Given the description of an element on the screen output the (x, y) to click on. 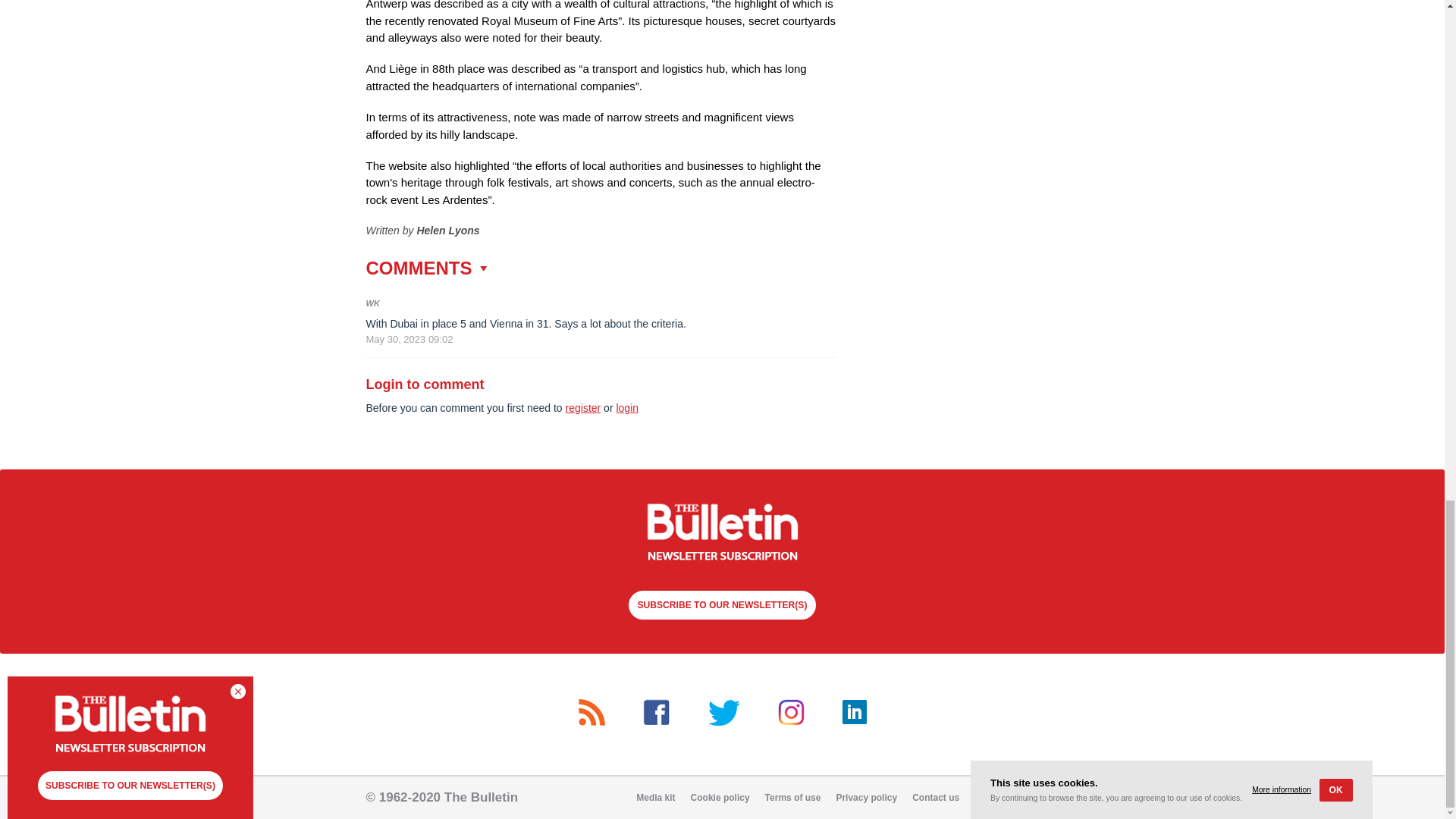
Subscribe now (721, 533)
